Given the description of an element on the screen output the (x, y) to click on. 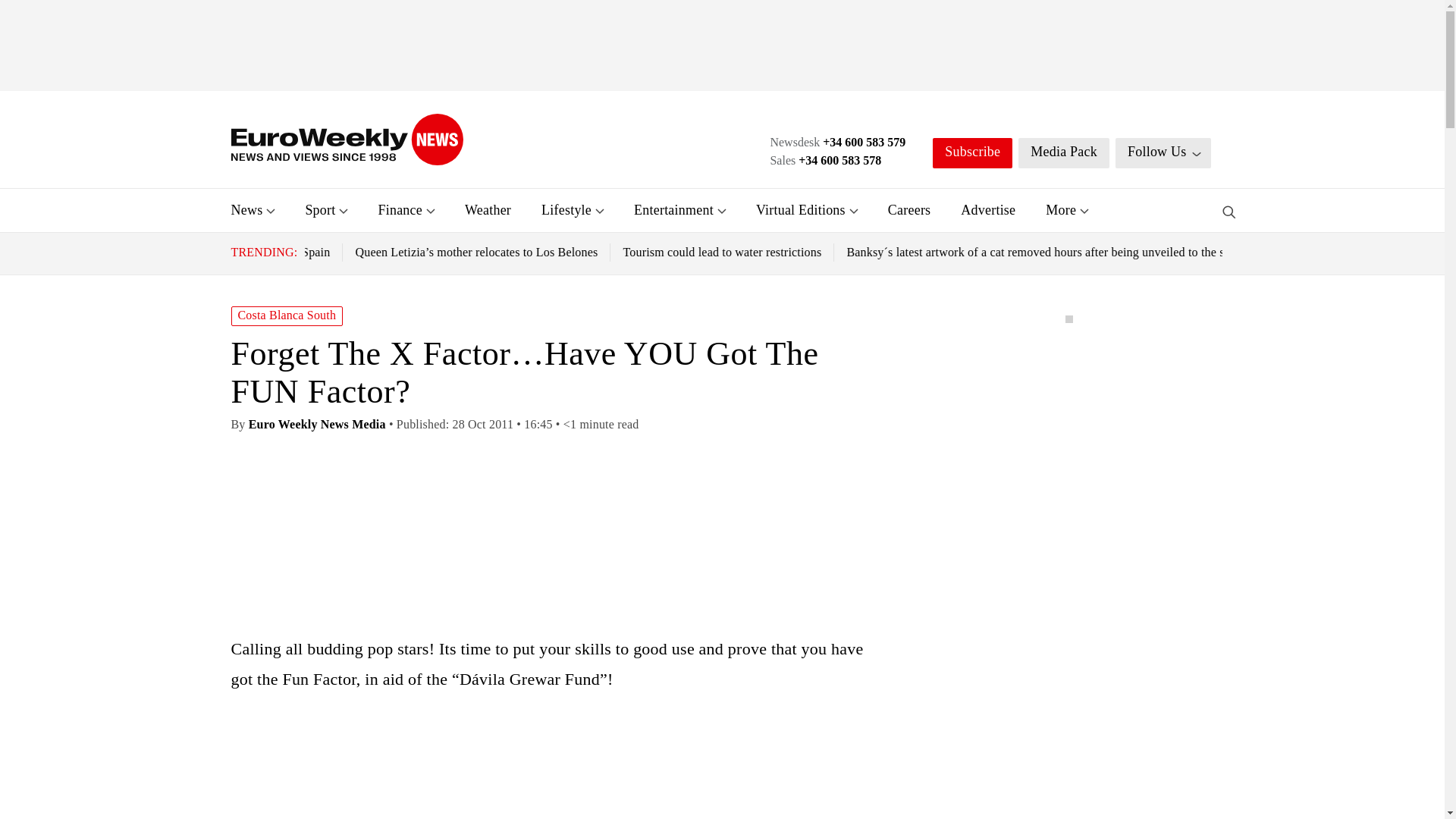
News (246, 209)
Follow Us (1163, 153)
Subscribe (972, 153)
Media Pack (1063, 153)
